Given the description of an element on the screen output the (x, y) to click on. 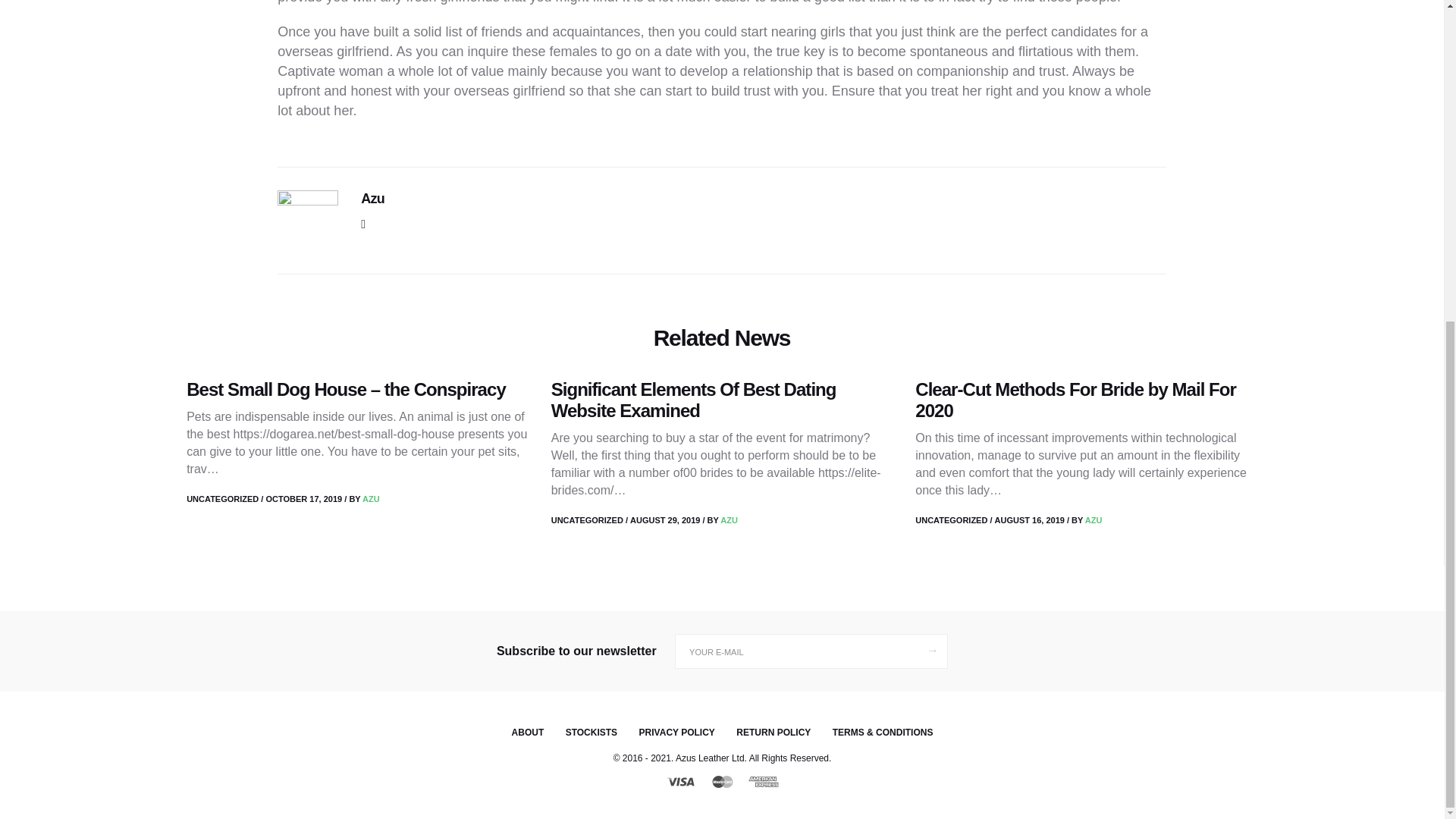
Posts by Azu (371, 498)
Posts by Azu (729, 519)
Azu (372, 198)
Clear-Cut Methods For Bride by Mail For 2020 (1075, 399)
Significant Elements Of Best Dating Website Examined (693, 399)
UNCATEGORIZED (222, 498)
AZU (371, 498)
Posts by Azu (1093, 519)
